Given the description of an element on the screen output the (x, y) to click on. 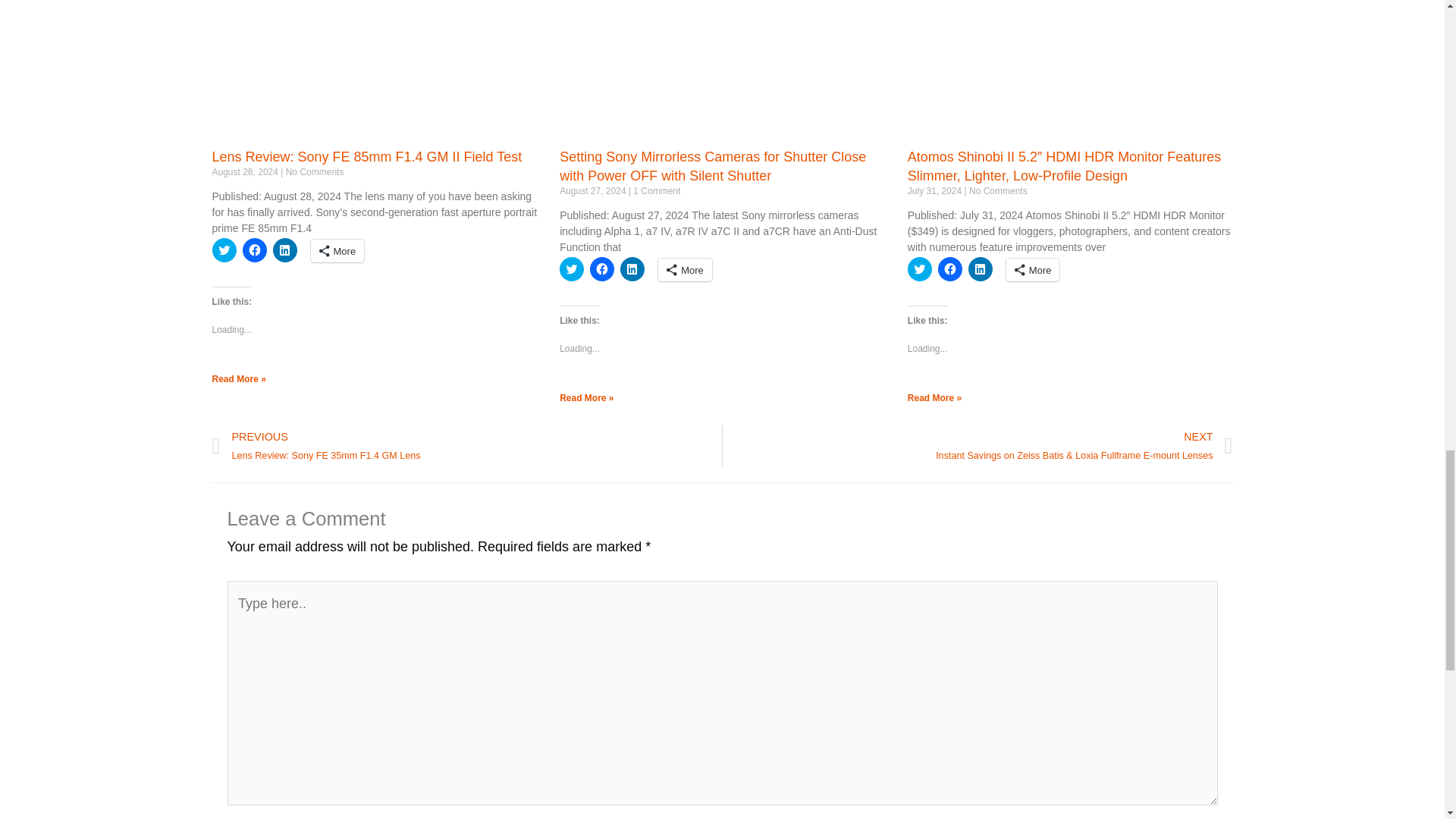
Click to share on Twitter (223, 250)
Click to share on LinkedIn (285, 250)
Click to share on Facebook (254, 250)
